Given the description of an element on the screen output the (x, y) to click on. 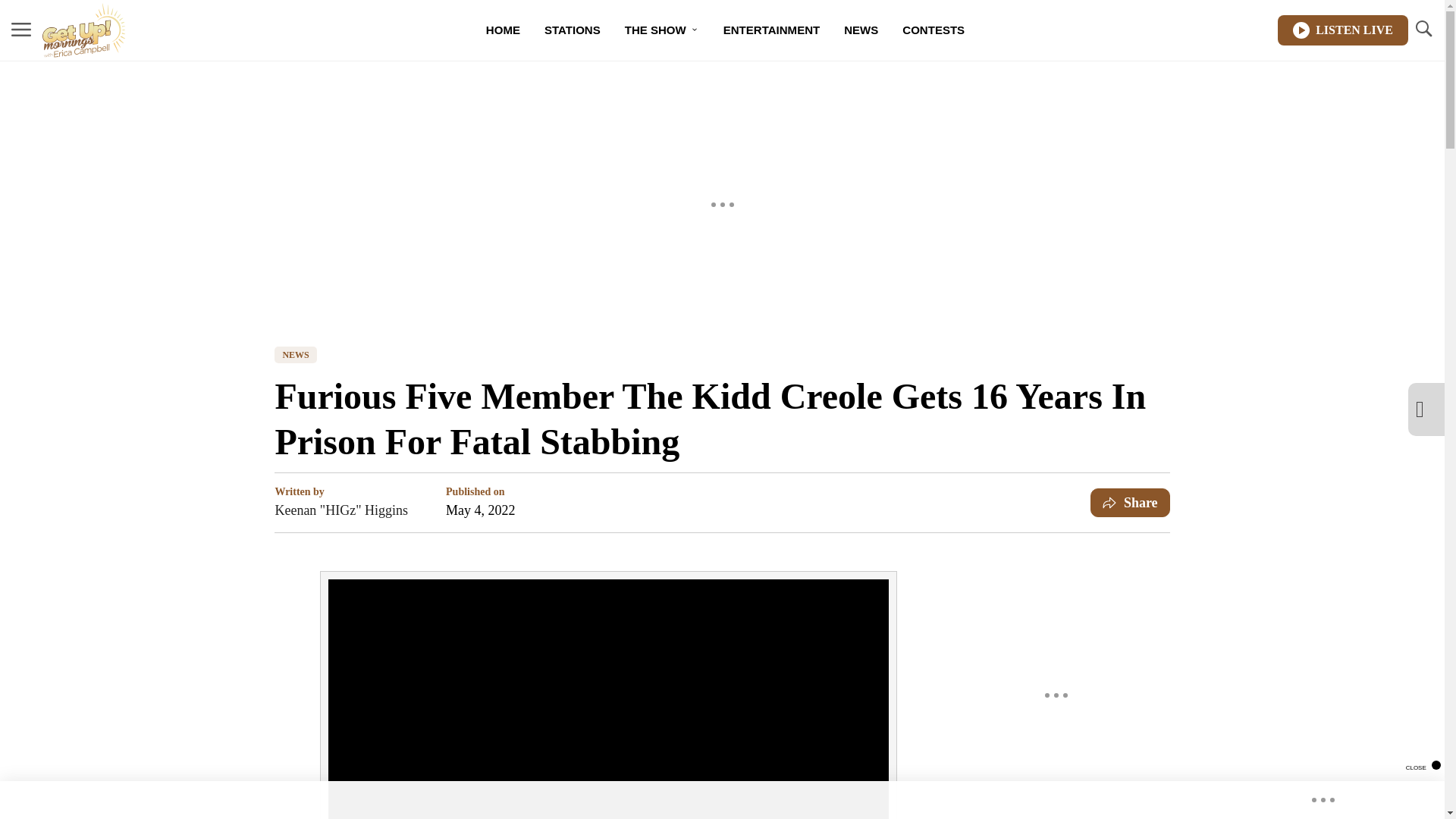
CONTESTS (932, 30)
Keenan "HIGz" Higgins (341, 509)
THE SHOW (661, 30)
LISTEN LIVE (1342, 30)
HOME (503, 30)
NEWS (860, 30)
MENU (20, 30)
Share (1130, 502)
TOGGLE SEARCH (1422, 30)
TOGGLE SEARCH (1422, 28)
